Given the description of an element on the screen output the (x, y) to click on. 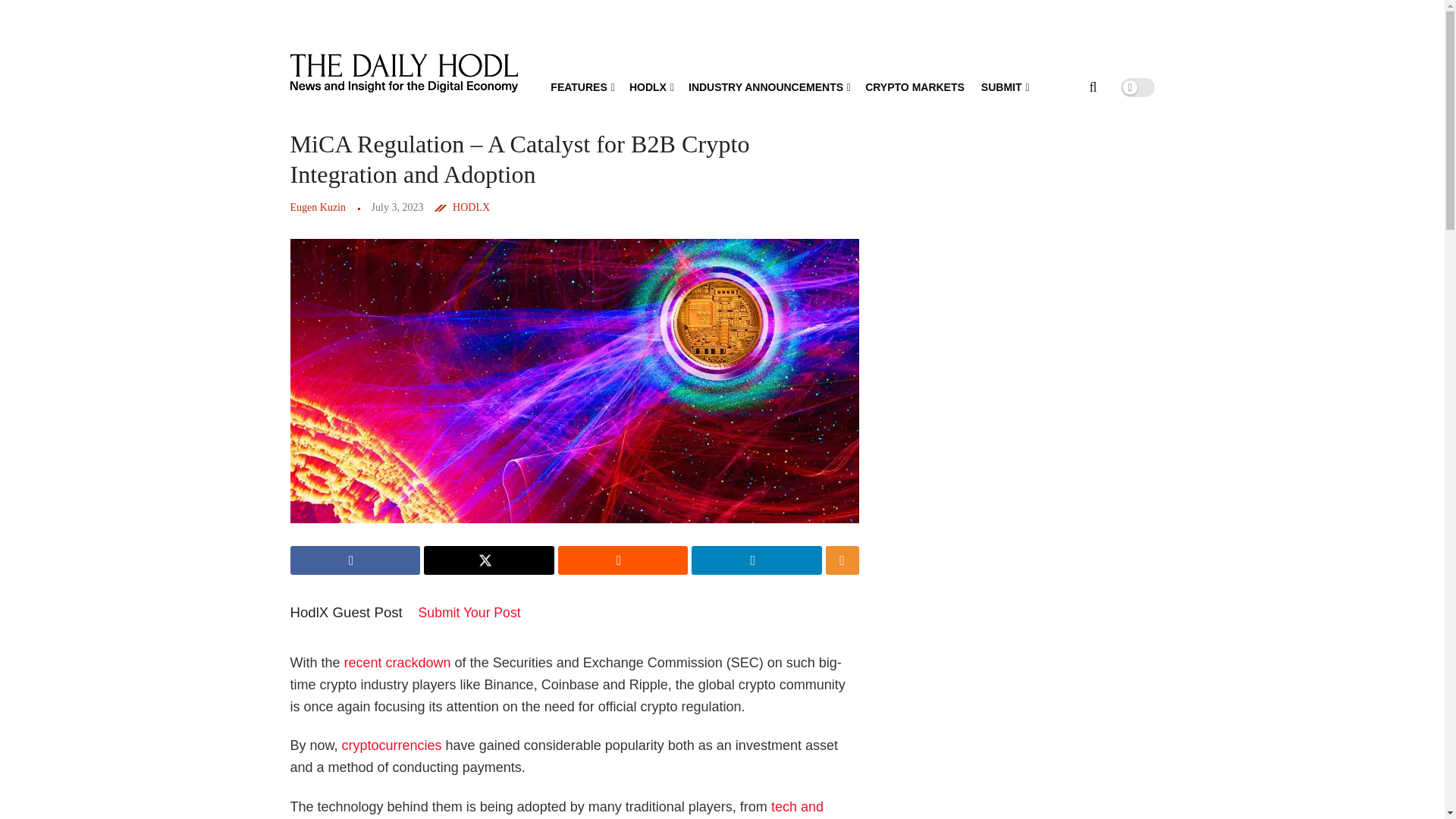
FEATURES (581, 86)
CRYPTO MARKETS (913, 86)
HODLX (649, 86)
INDUSTRY ANNOUNCEMENTS (768, 86)
SUBMIT (1004, 86)
